Given the description of an element on the screen output the (x, y) to click on. 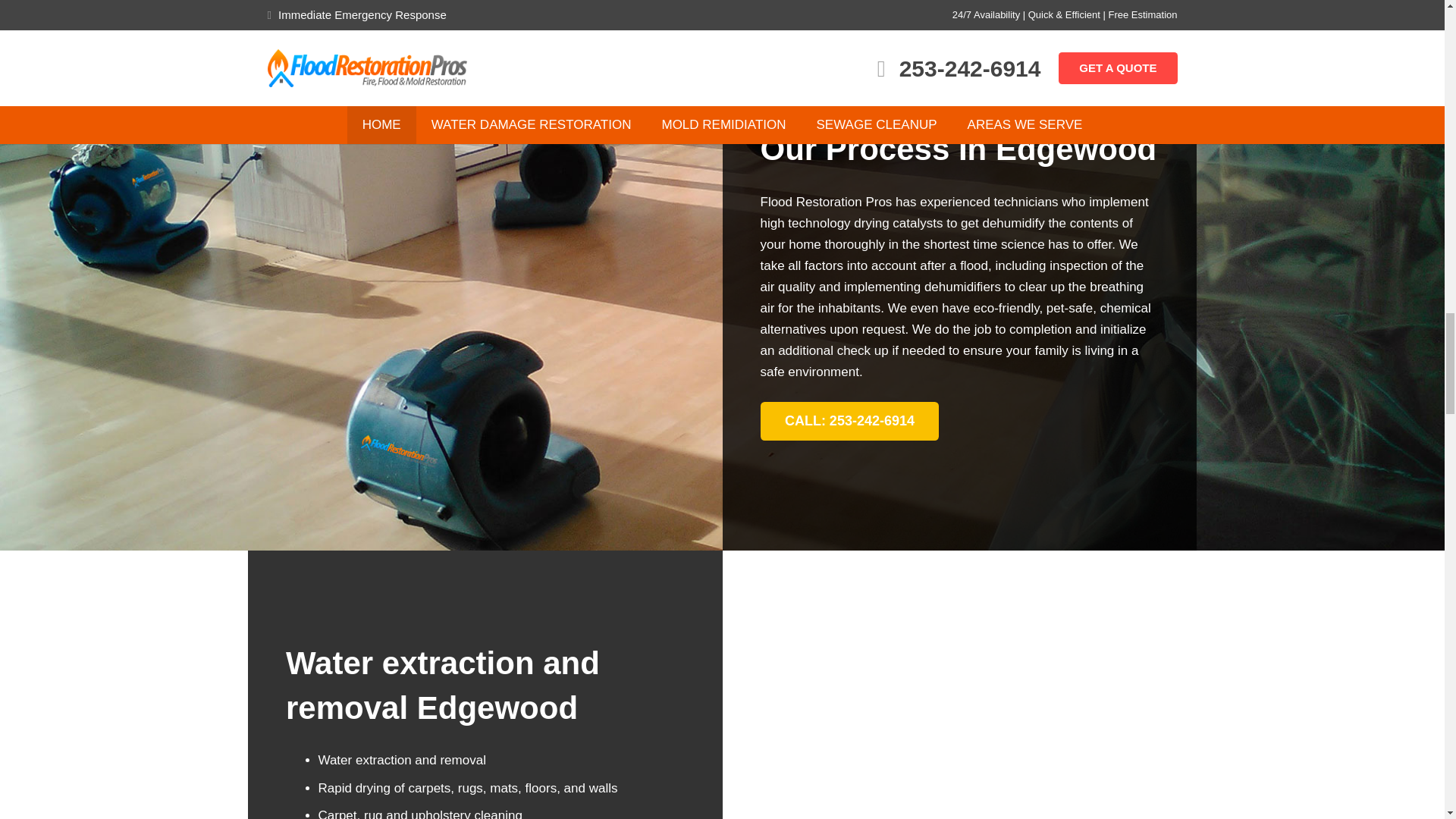
CALL: 253-242-6914 (849, 420)
